Given the description of an element on the screen output the (x, y) to click on. 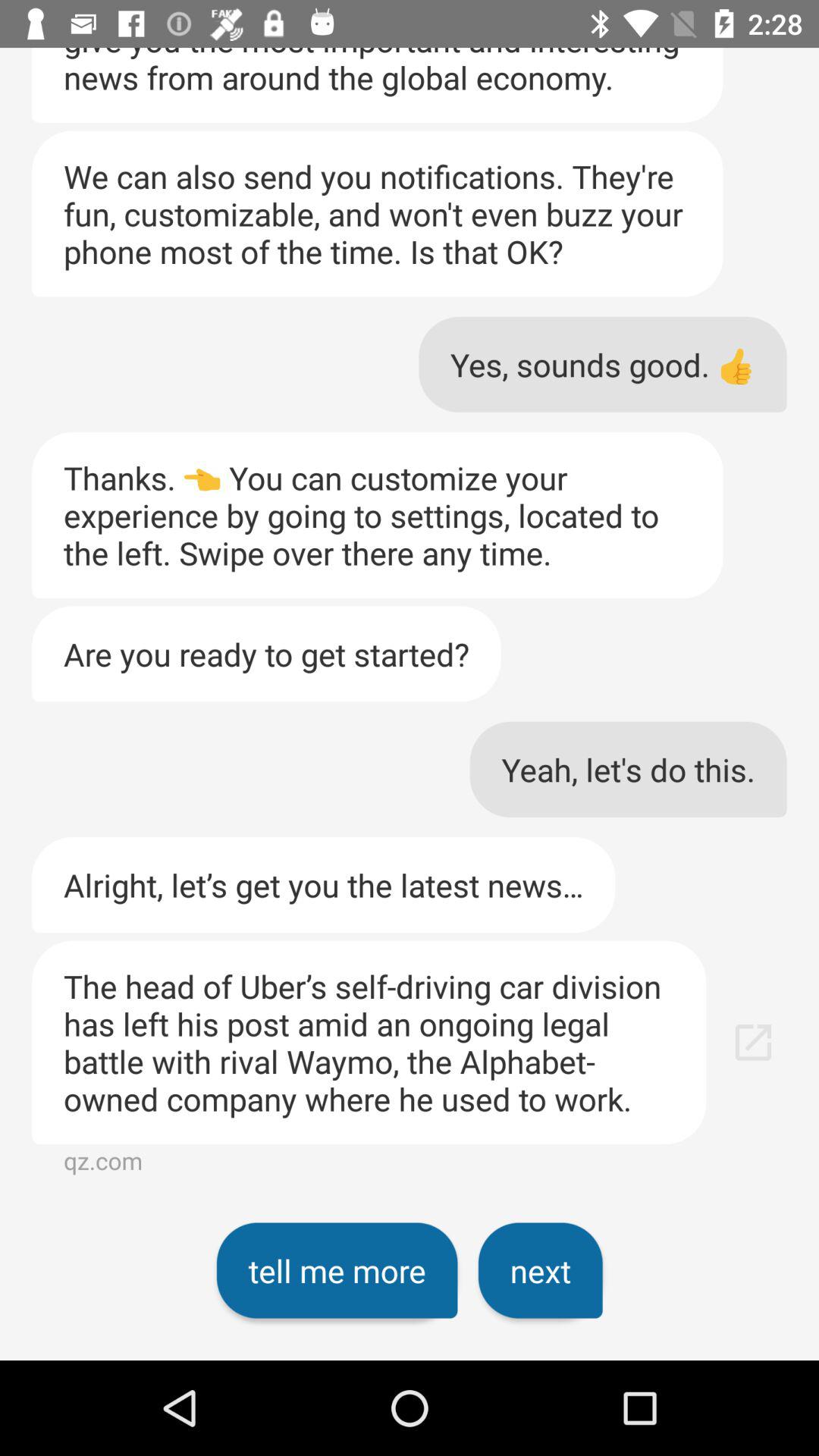
open the icon next to the tell me more icon (540, 1270)
